Given the description of an element on the screen output the (x, y) to click on. 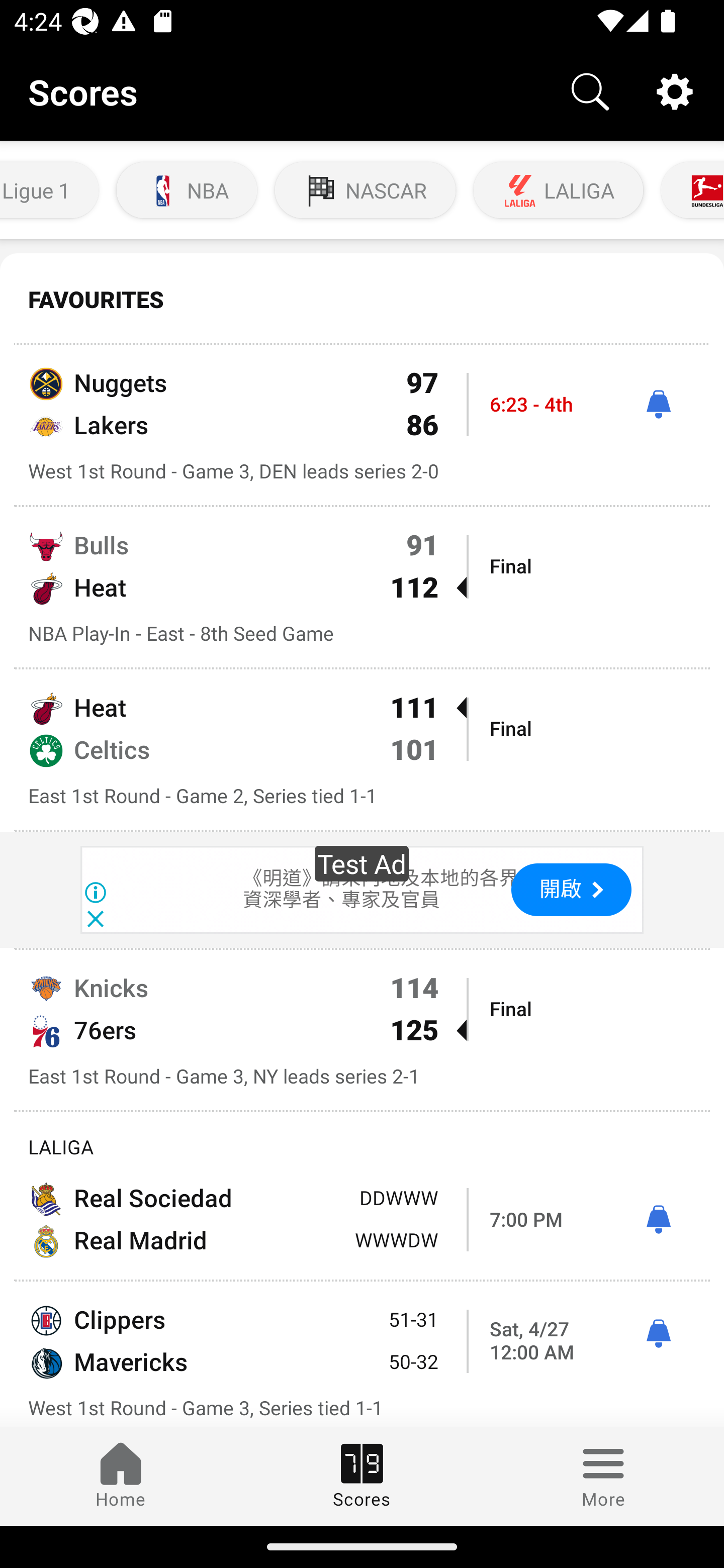
Search (590, 90)
Settings (674, 90)
NBA (186, 190)
NASCAR (365, 190)
LALIGA (557, 190)
FAVOURITES (362, 299)
ì (658, 404)
開啟 (570, 889)
ì (658, 1219)
ì (658, 1334)
Home (120, 1475)
More (603, 1475)
